Given the description of an element on the screen output the (x, y) to click on. 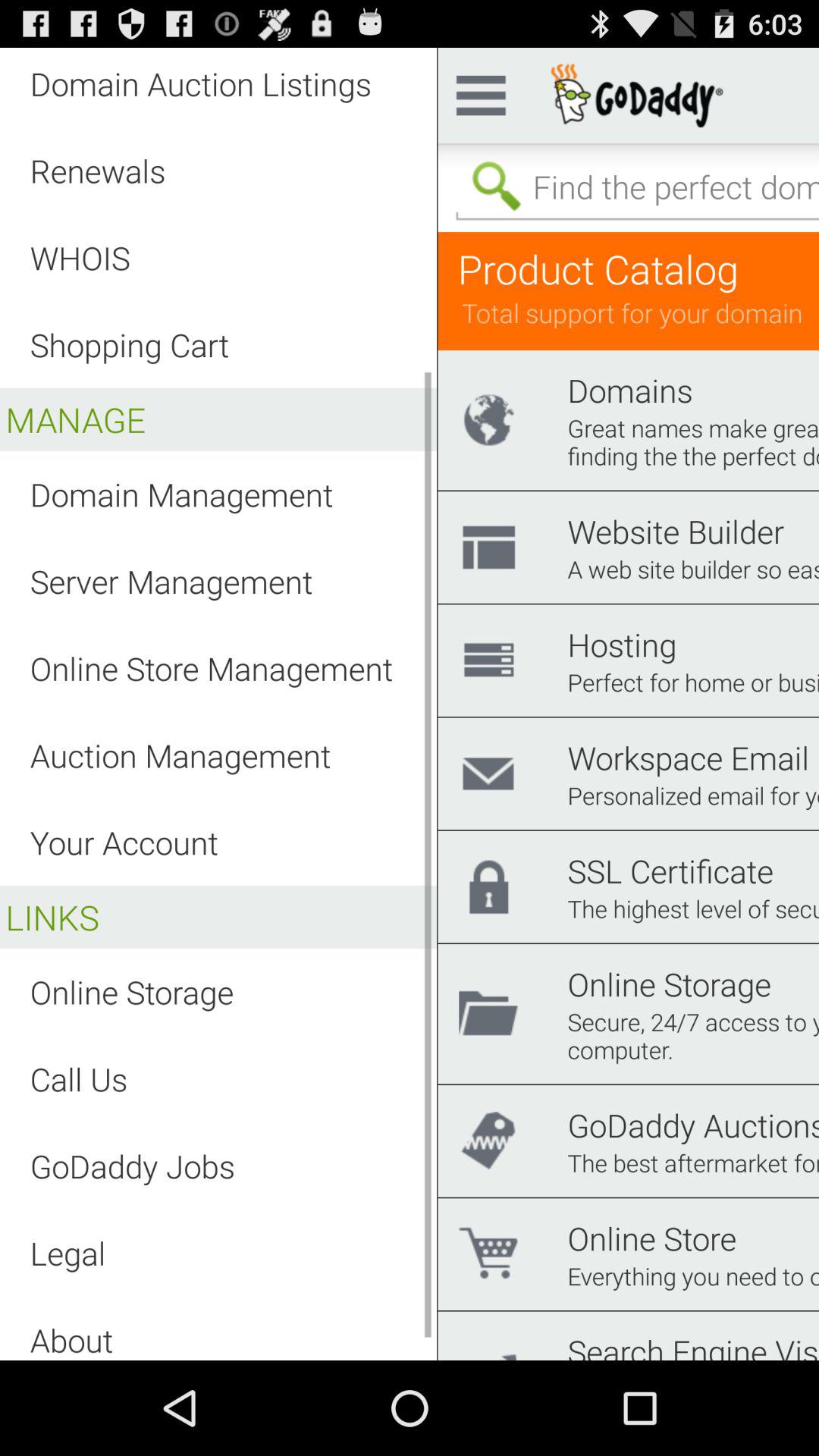
search bar (633, 187)
